Given the description of an element on the screen output the (x, y) to click on. 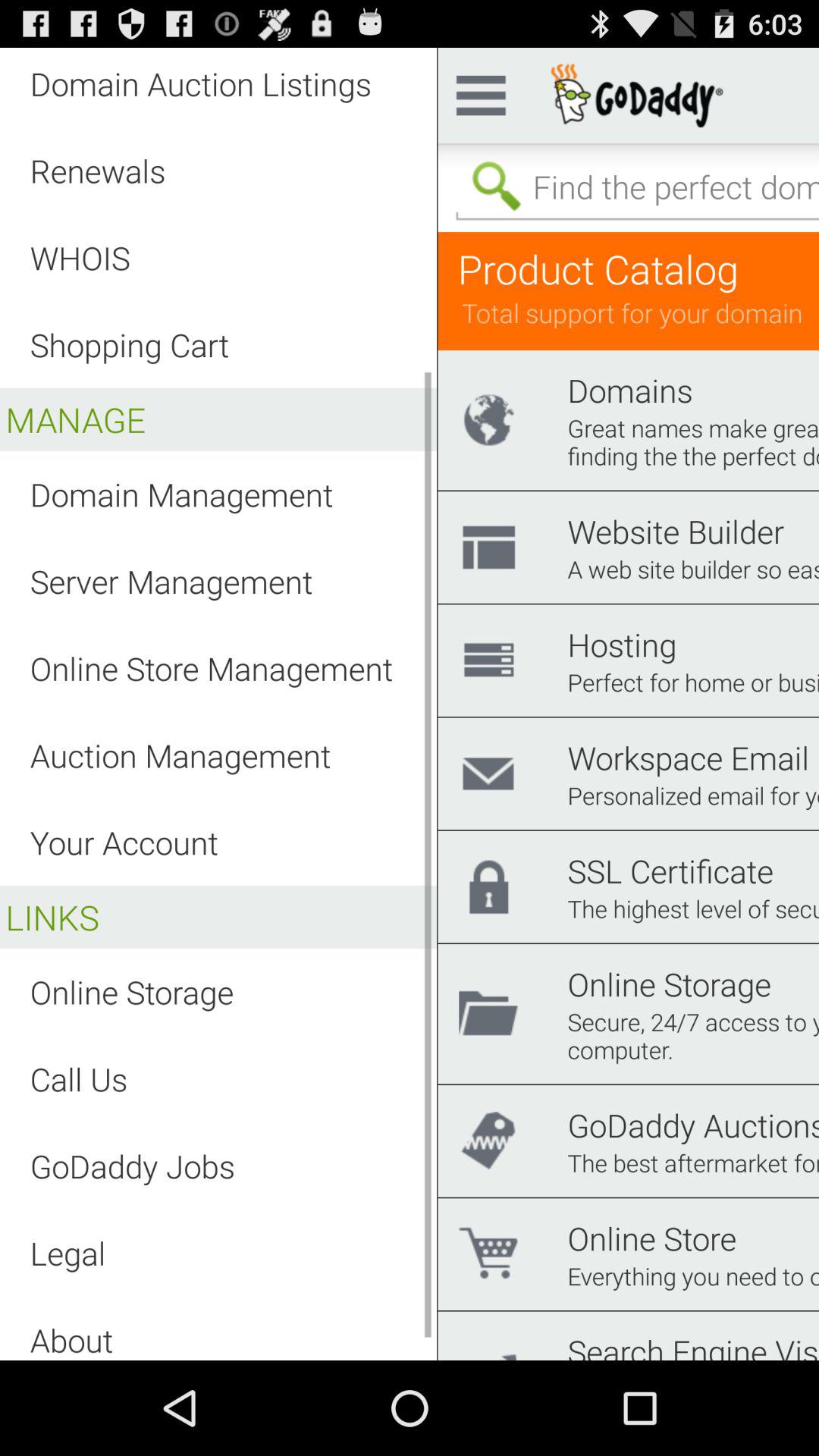
search bar (633, 187)
